Given the description of an element on the screen output the (x, y) to click on. 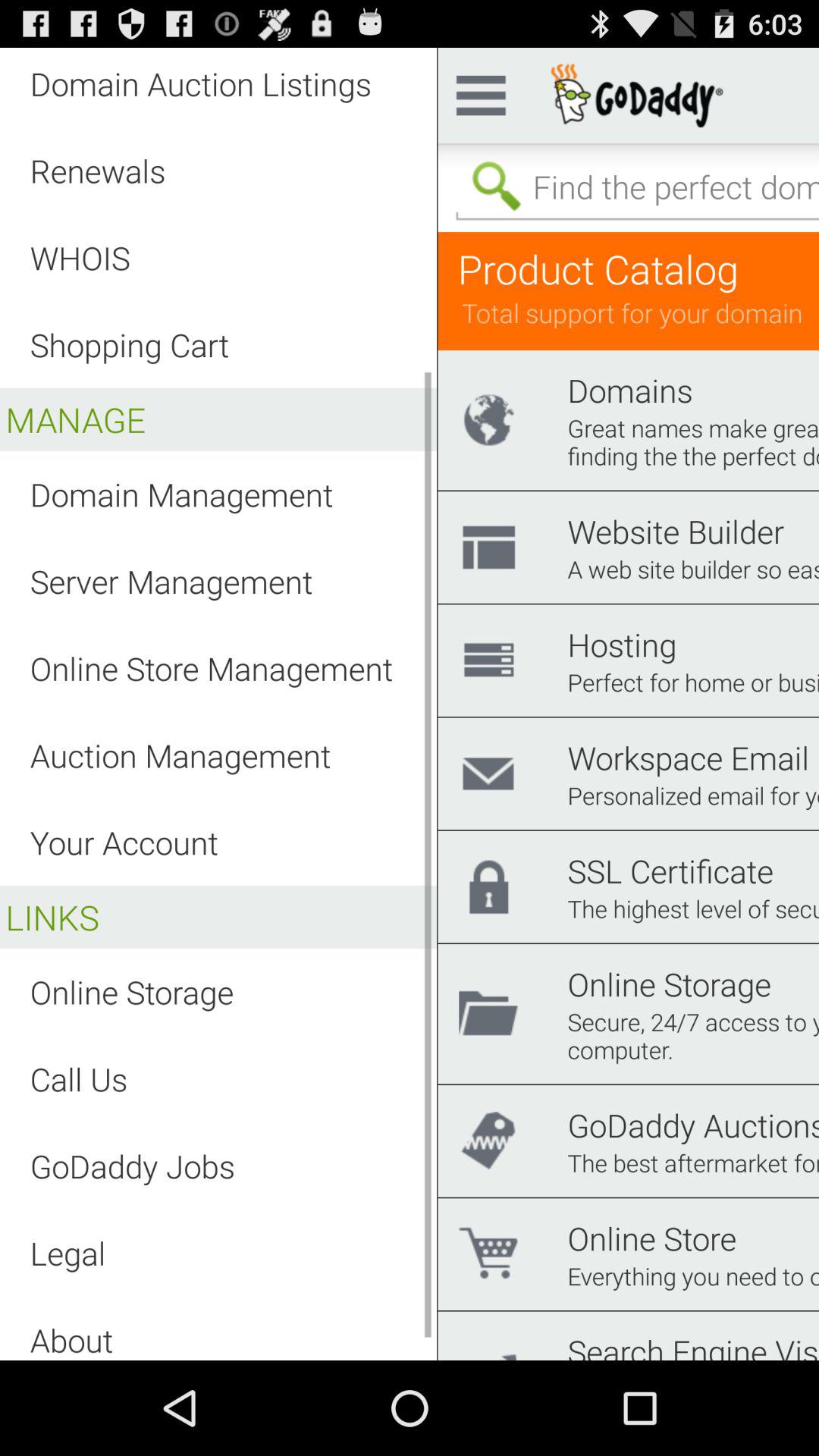
search bar (633, 187)
